Given the description of an element on the screen output the (x, y) to click on. 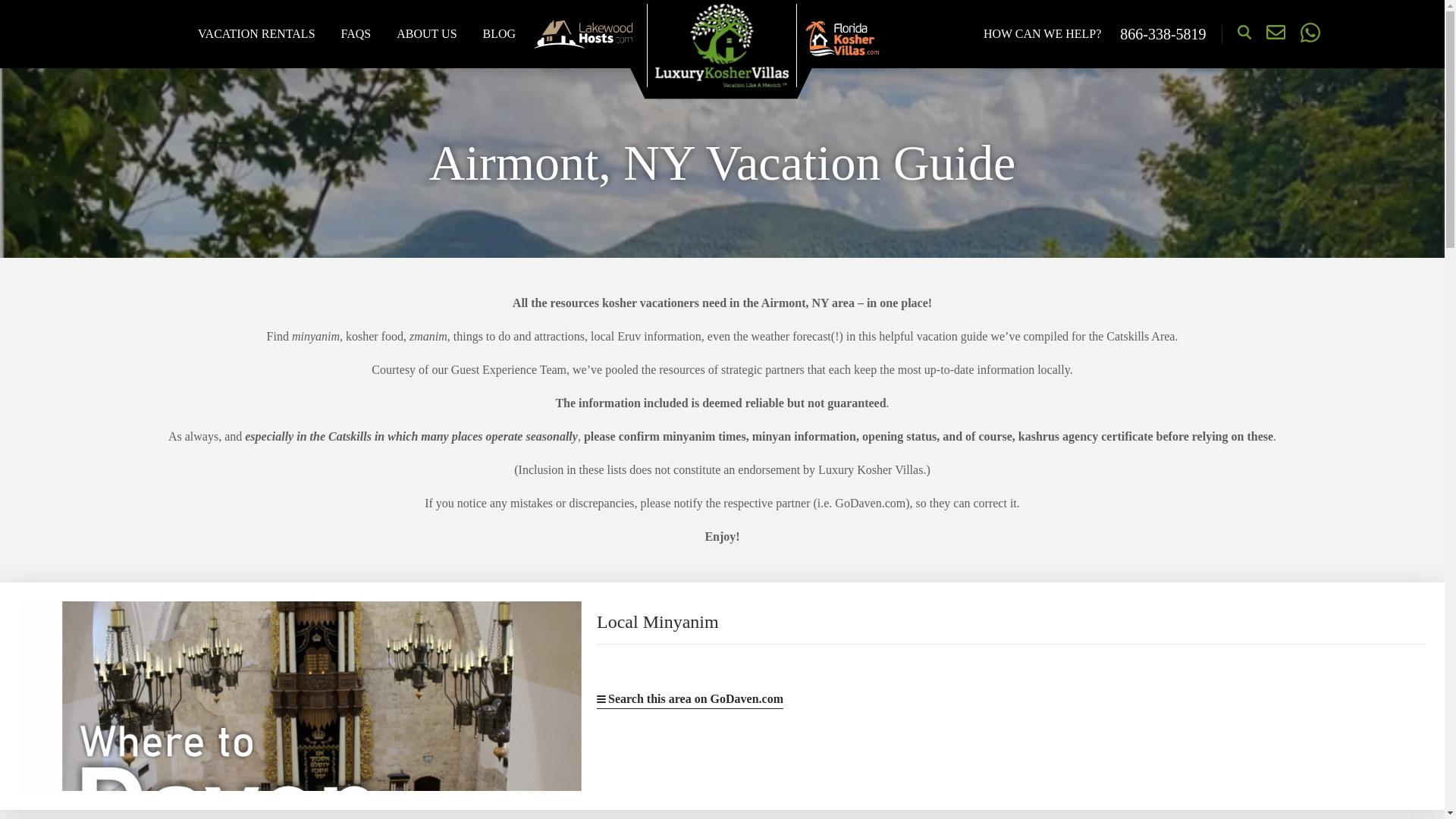
ABOUT US (426, 33)
FAQS (356, 33)
BLOG (499, 33)
HOW CAN WE HELP? (1045, 33)
VACATION RENTALS (256, 33)
